Given the description of an element on the screen output the (x, y) to click on. 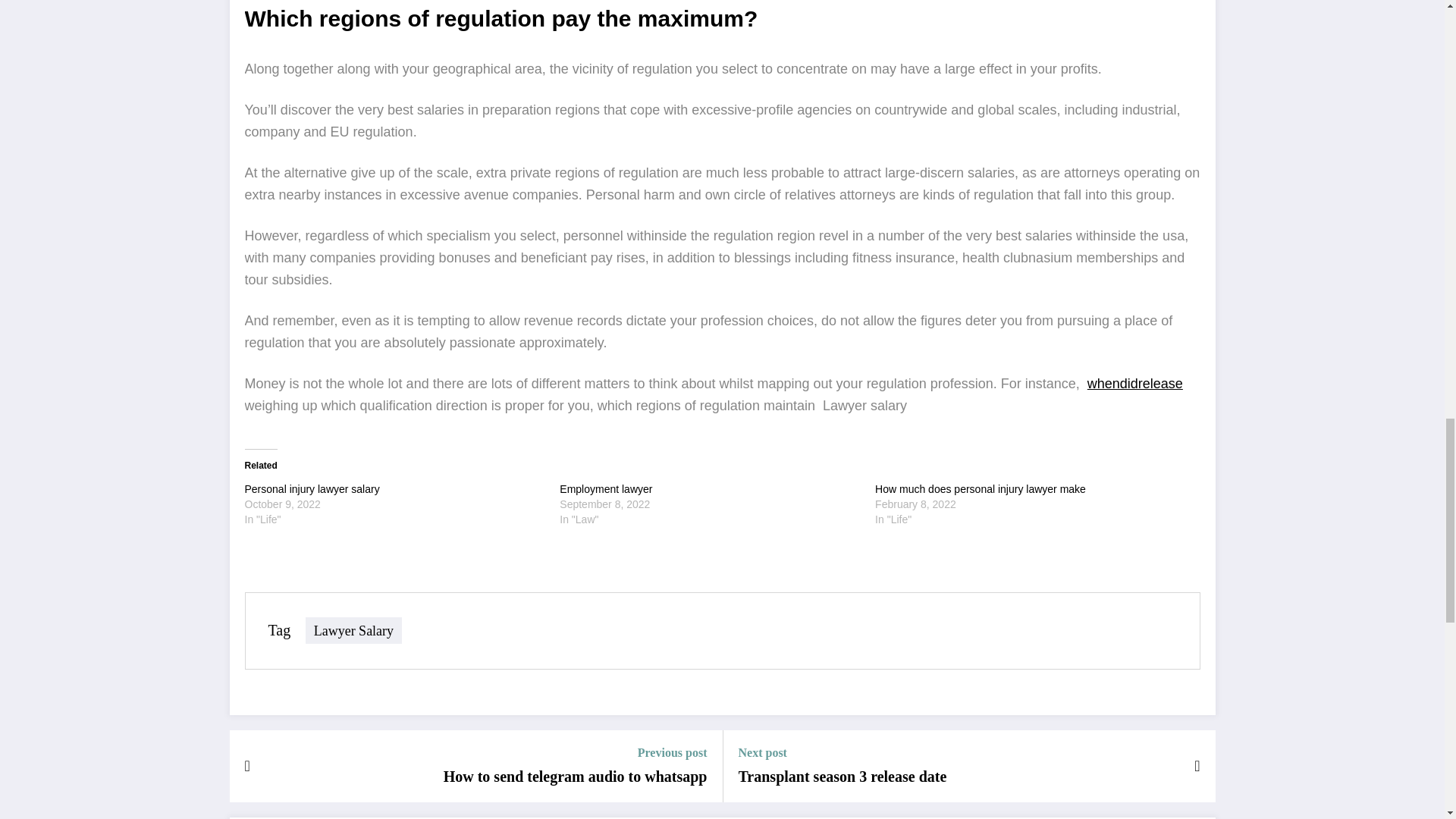
Lawyer Salary (353, 630)
Previous post (575, 752)
Next post (842, 752)
How to send telegram audio to whatsapp (575, 776)
Personal injury lawyer salary (311, 489)
Employment lawyer (605, 489)
whendidrelease (1134, 383)
How much does personal injury lawyer make (980, 489)
Transplant season 3 release date (842, 776)
